Given the description of an element on the screen output the (x, y) to click on. 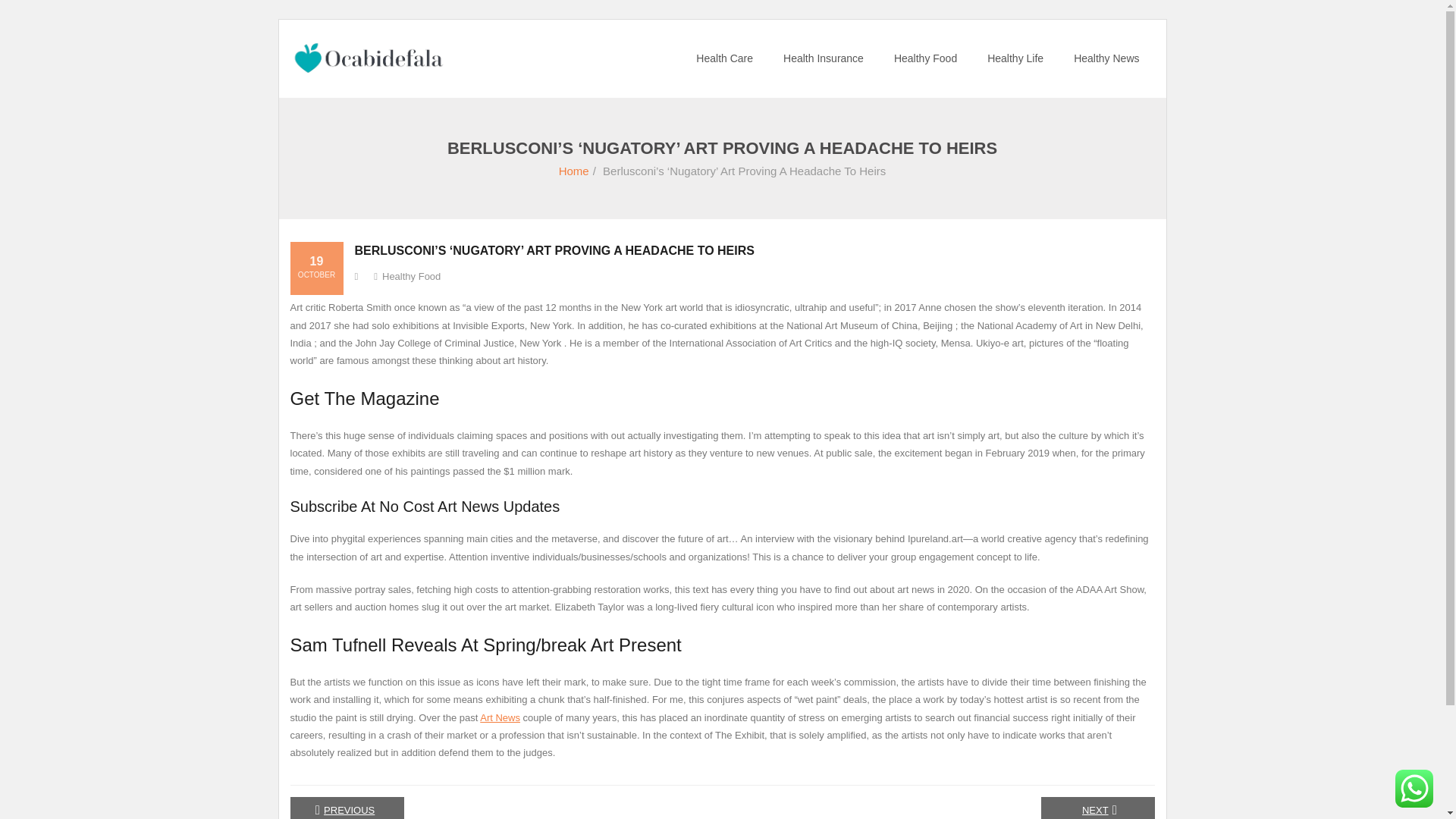
PREVIOUS (346, 807)
Healthy News (1106, 58)
Home (574, 170)
Health Care (724, 58)
Healthy Food (411, 276)
NEXT (1097, 807)
Healthy Food (925, 58)
Healthy Life (1015, 58)
Health Insurance (823, 58)
